Given the description of an element on the screen output the (x, y) to click on. 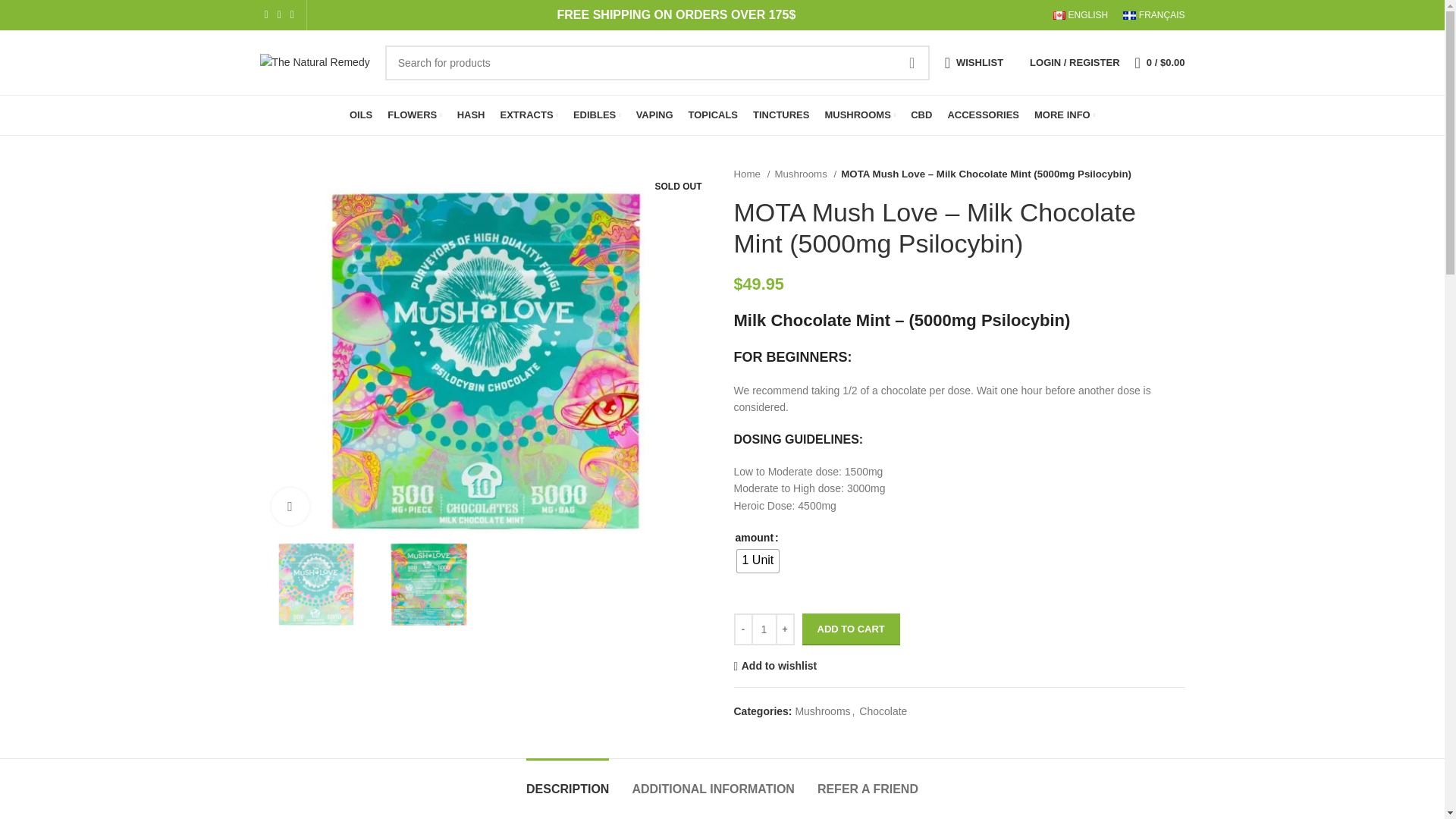
Search for products (657, 62)
My Wishlist (973, 61)
SEARCH (912, 62)
HASH (470, 114)
ENGLISH (1080, 15)
EXTRACTS (528, 114)
WISHLIST (973, 61)
Shopping cart (1159, 61)
My account (1074, 61)
FLOWERS (414, 114)
